Given the description of an element on the screen output the (x, y) to click on. 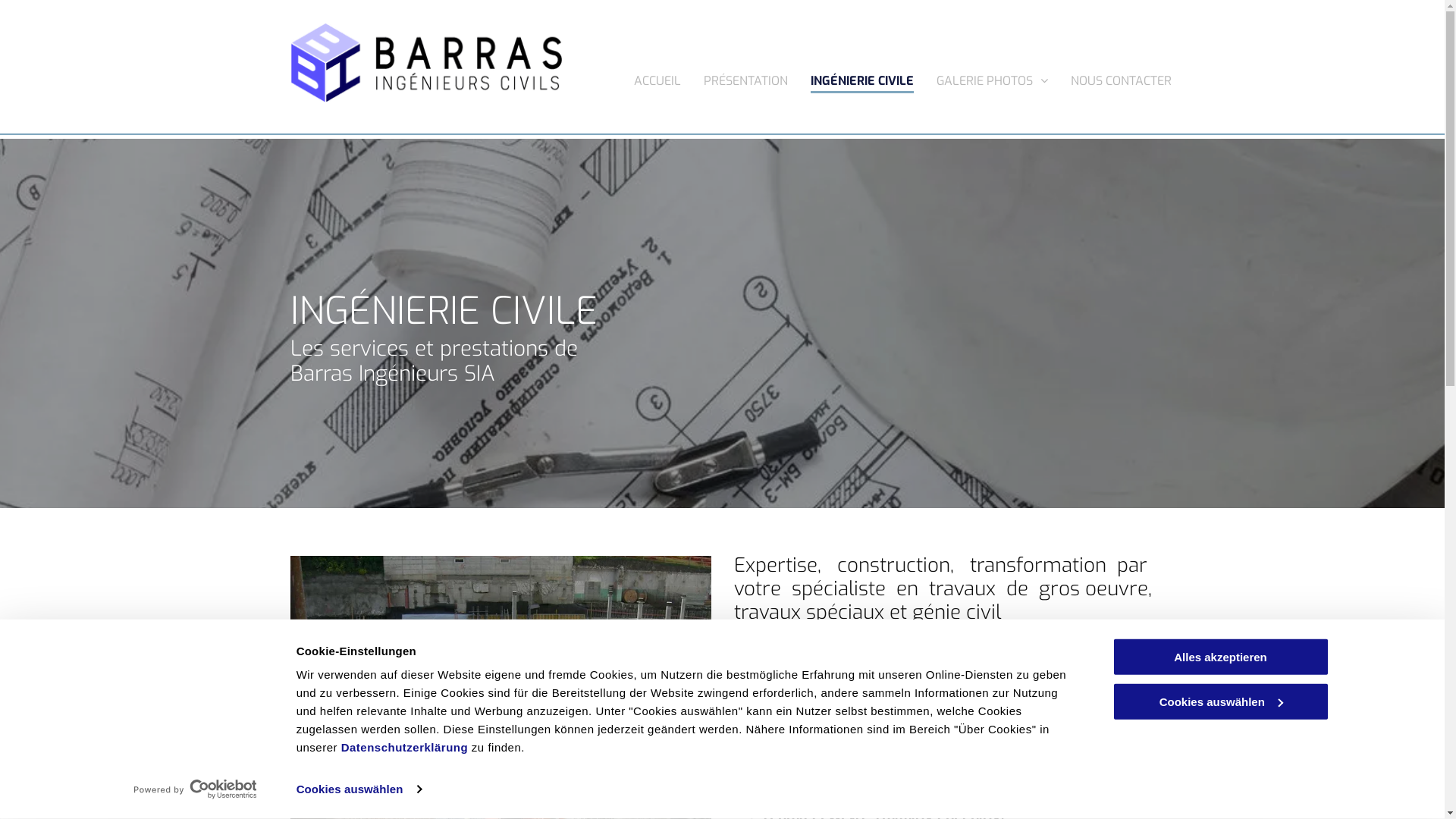
GALERIE PHOTOS Element type: text (992, 77)
Alles akzeptieren Element type: text (1219, 656)
ACCUEIL Element type: text (656, 77)
NOUS CONTACTER Element type: text (1120, 77)
